Given the description of an element on the screen output the (x, y) to click on. 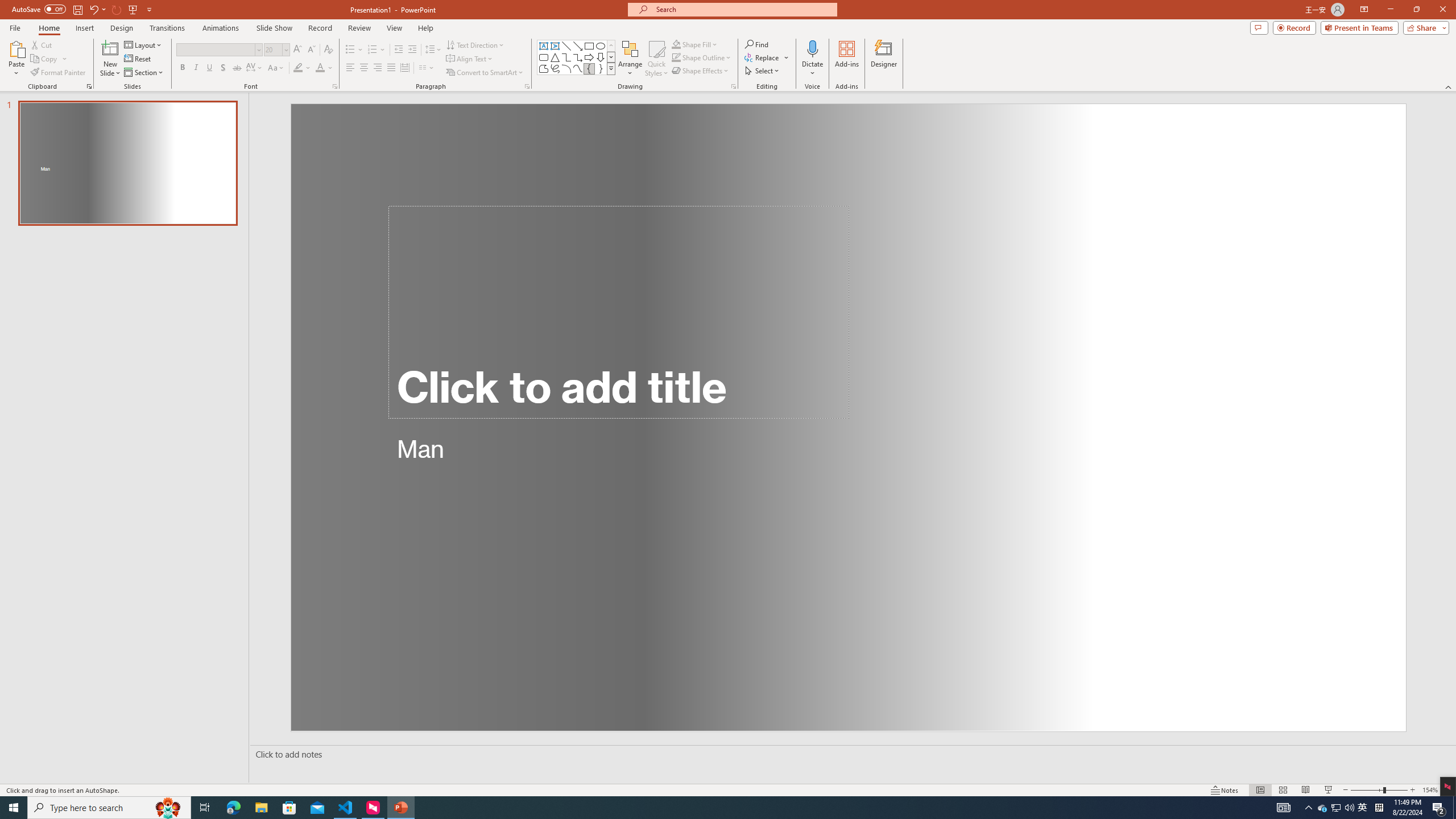
Decrease Indent (398, 49)
Line Arrow (577, 45)
Format Painter (58, 72)
Font Color Red (320, 67)
Bold (182, 67)
Convert to SmartArt (485, 72)
Format Object... (733, 85)
Shape Outline (701, 56)
